Given the description of an element on the screen output the (x, y) to click on. 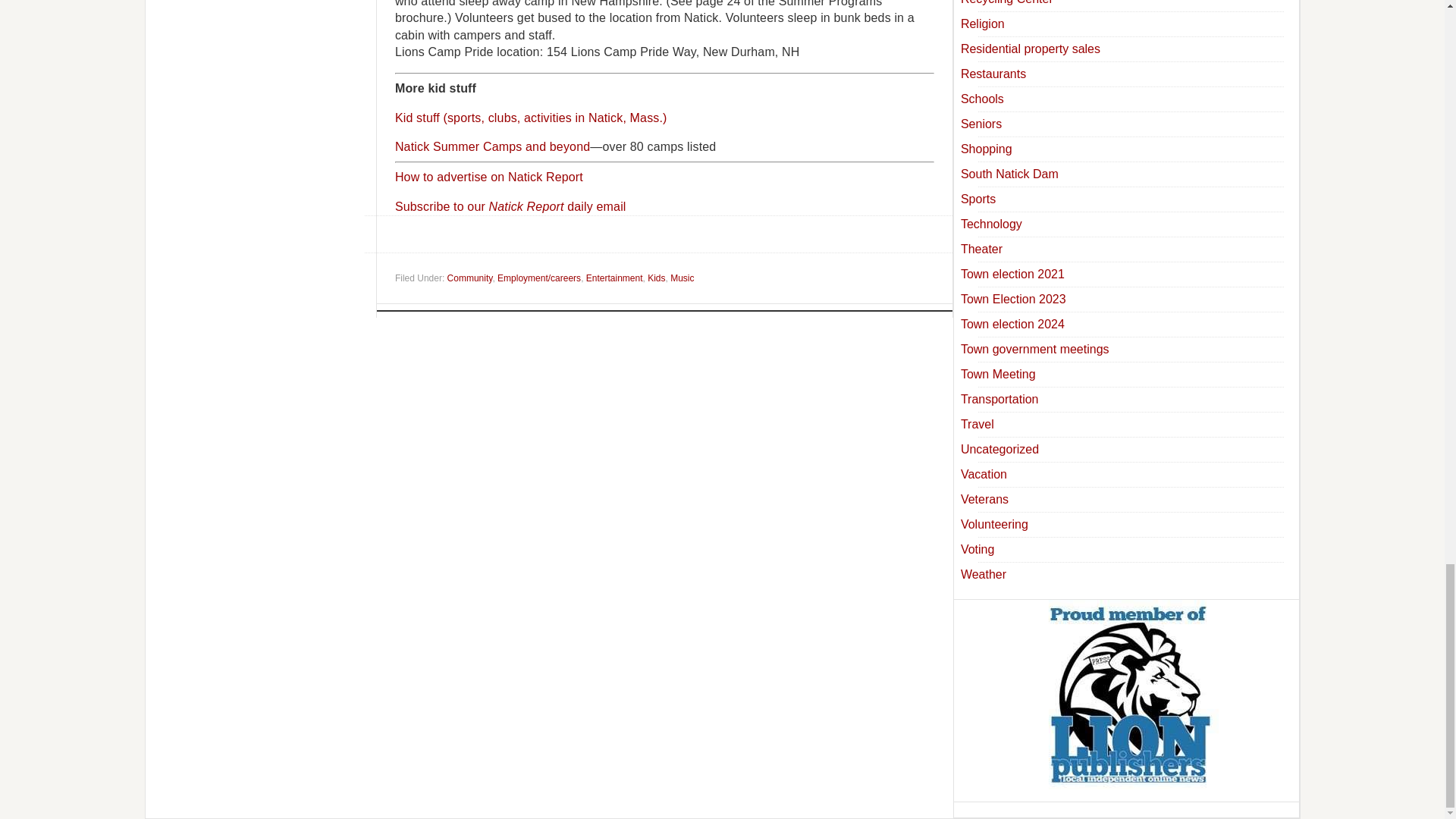
Community (469, 277)
Natick Summer Camps and beyond (491, 146)
Entertainment (614, 277)
Subscribe to our Natick Report daily email (510, 205)
How to advertise on Natick Report (488, 176)
Kids (656, 277)
